Given the description of an element on the screen output the (x, y) to click on. 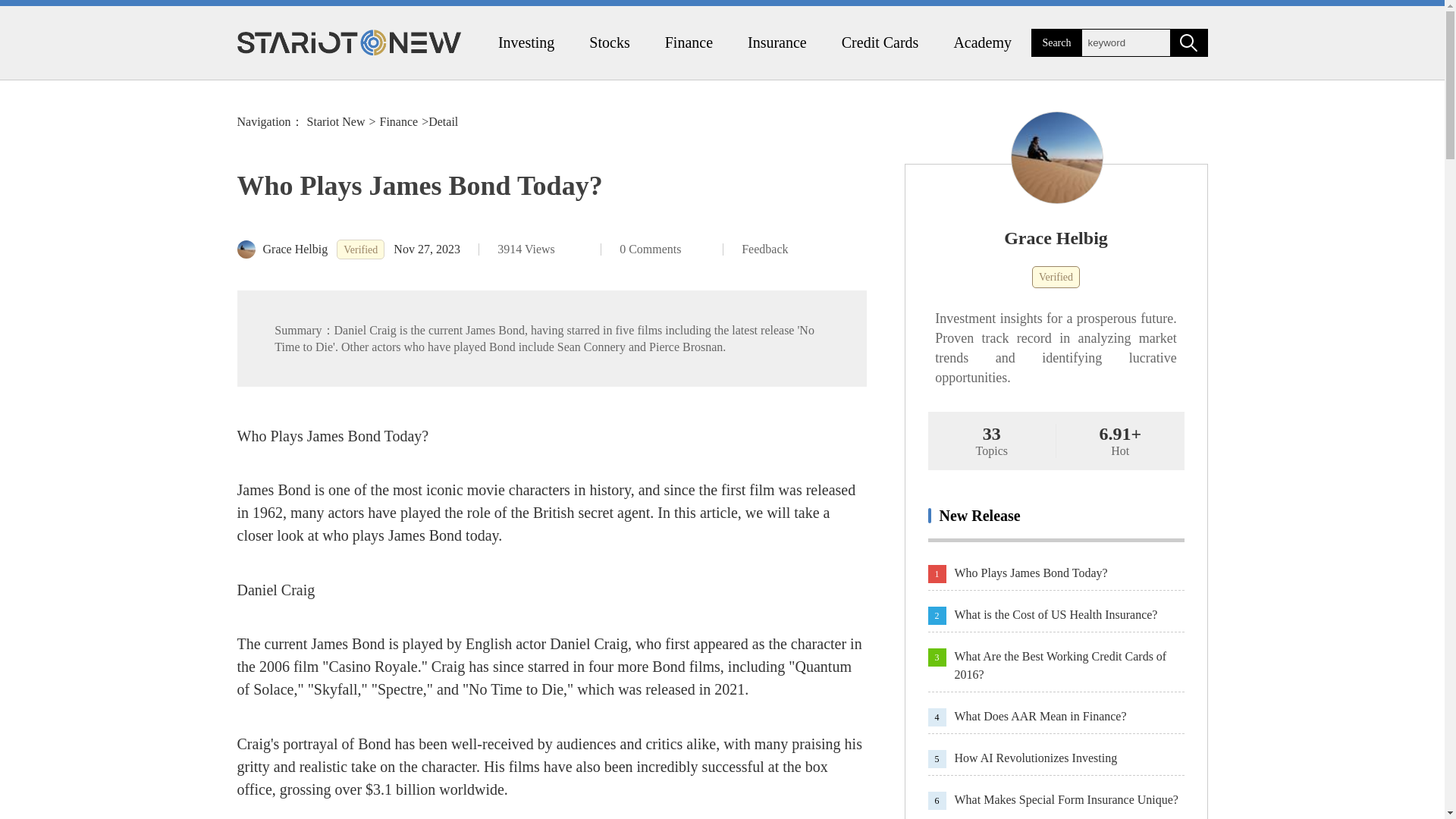
Insurance (777, 42)
Search (1188, 42)
Investing (525, 42)
Grace Helbig (281, 248)
Insurance (777, 42)
Search (1056, 42)
Investing (525, 42)
What Does AAR Mean in Finance? (1068, 716)
Credit Cards (880, 42)
Grace Helbig (1056, 237)
